Given the description of an element on the screen output the (x, y) to click on. 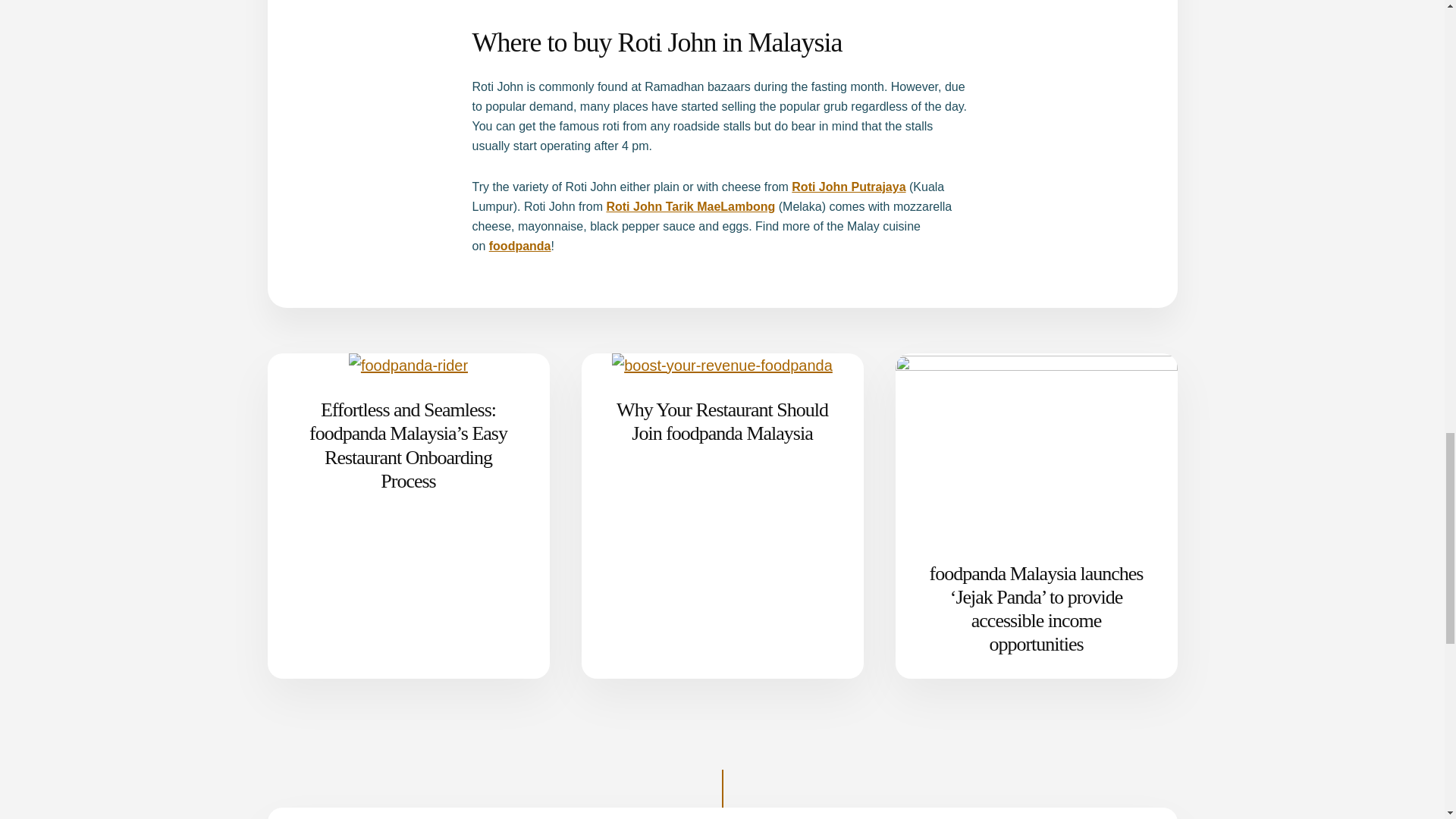
foodpanda (520, 245)
Why Your Restaurant Should Join foodpanda Malaysia (721, 421)
Roti John Putrajaya (848, 186)
Roti John Tarik MaeLambong (689, 205)
